Given the description of an element on the screen output the (x, y) to click on. 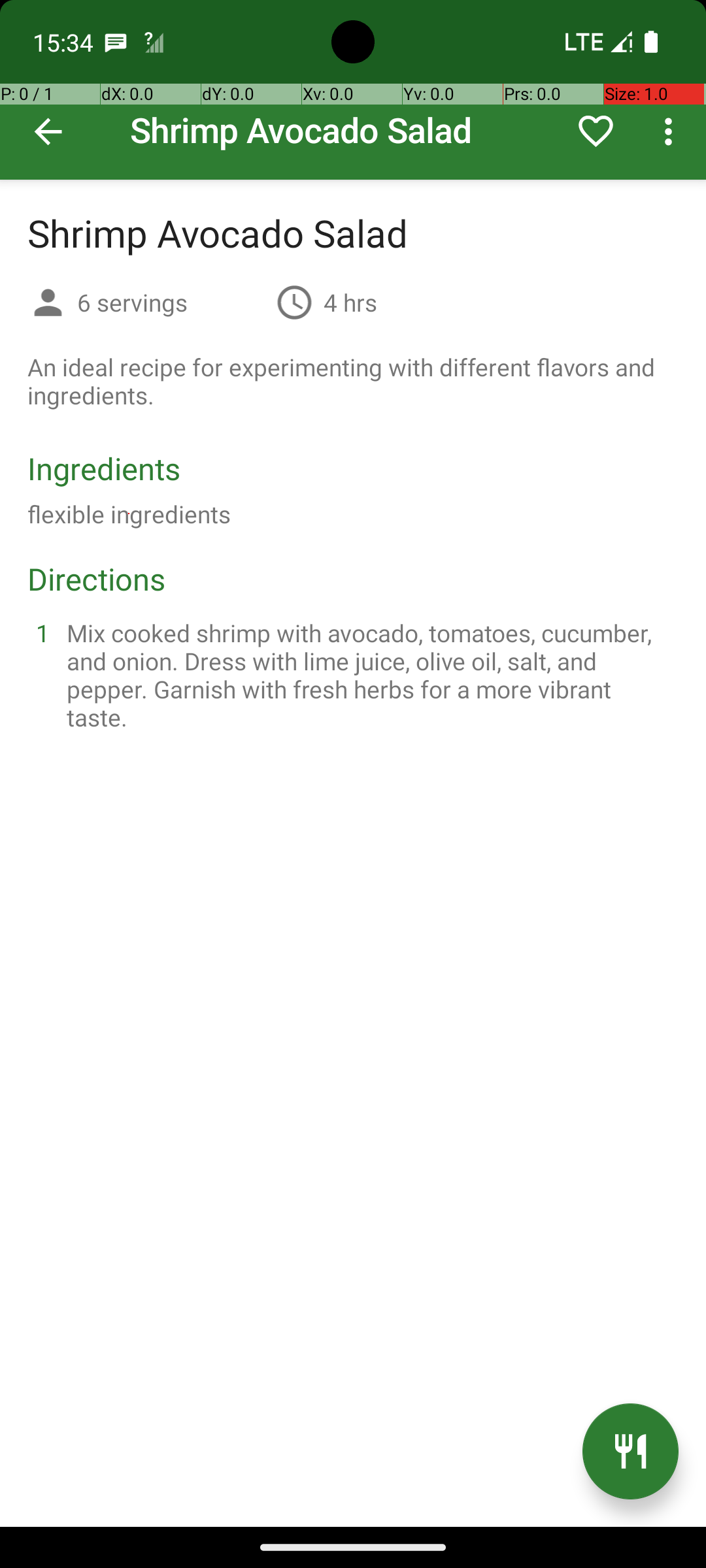
Shrimp Avocado Salad Element type: android.widget.FrameLayout (353, 89)
Mix cooked shrimp with avocado, tomatoes, cucumber, and onion. Dress with lime juice, olive oil, salt, and pepper. Garnish with fresh herbs for a more vibrant taste. Element type: android.widget.TextView (368, 674)
